Given the description of an element on the screen output the (x, y) to click on. 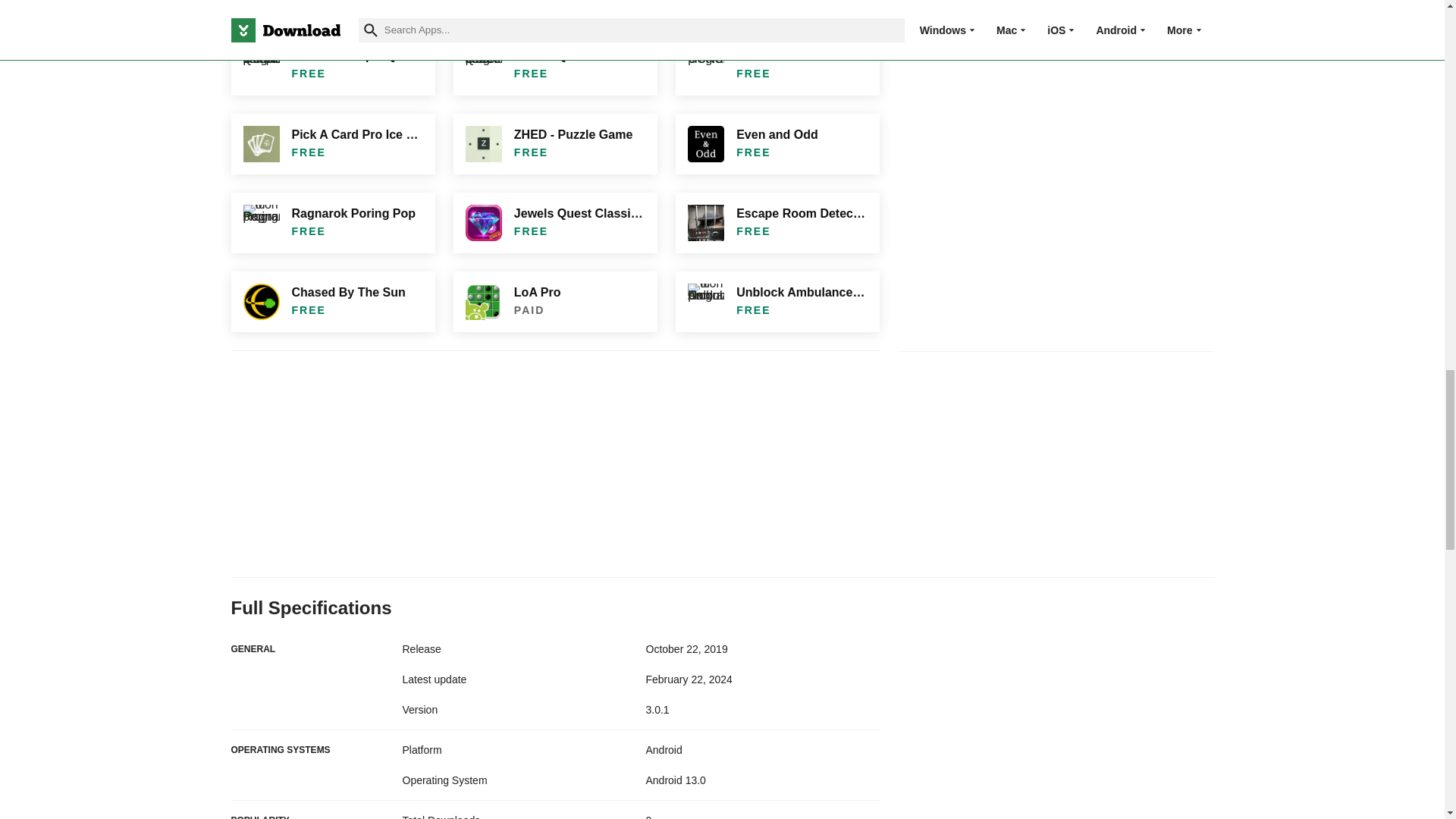
LoA Pro (555, 301)
Ragnarok Poring Pop (331, 222)
CONSILIO (777, 65)
Pick A Card Pro Ice Breakers (331, 143)
Escape Room Detective - The Abandoned Prison (777, 222)
Marble - Temple Quest 2 (331, 65)
Even and Odd (777, 143)
ZHED - Puzzle Game (555, 143)
Jewels Quest Classic 2020 (555, 222)
Jewels Quest 2020 (555, 65)
Chased By The Sun (331, 301)
Unblock Ambulance Car (777, 301)
